Given the description of an element on the screen output the (x, y) to click on. 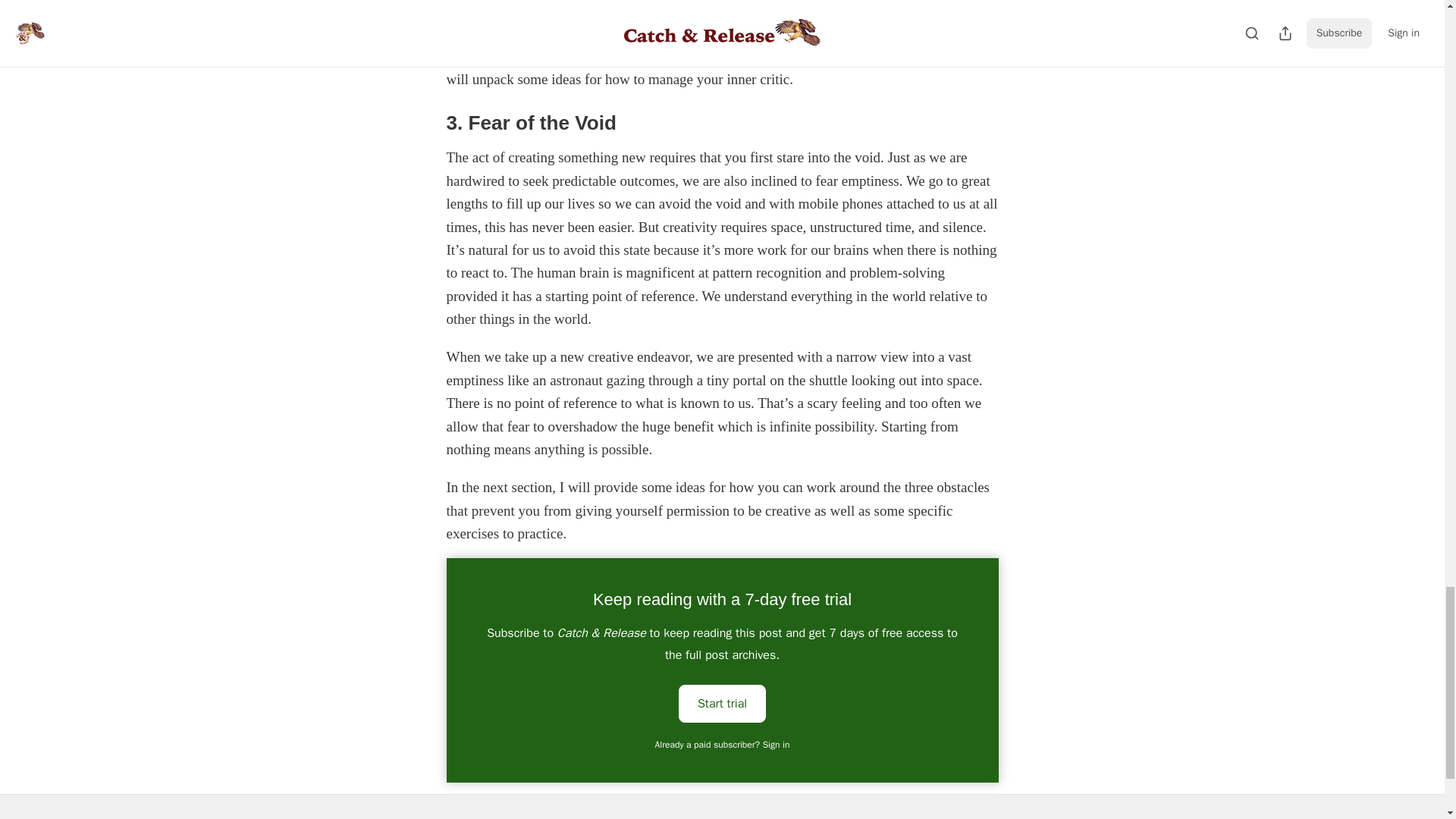
Start trial (721, 703)
Start trial (721, 702)
Already a paid subscriber? Sign in (722, 744)
